Given the description of an element on the screen output the (x, y) to click on. 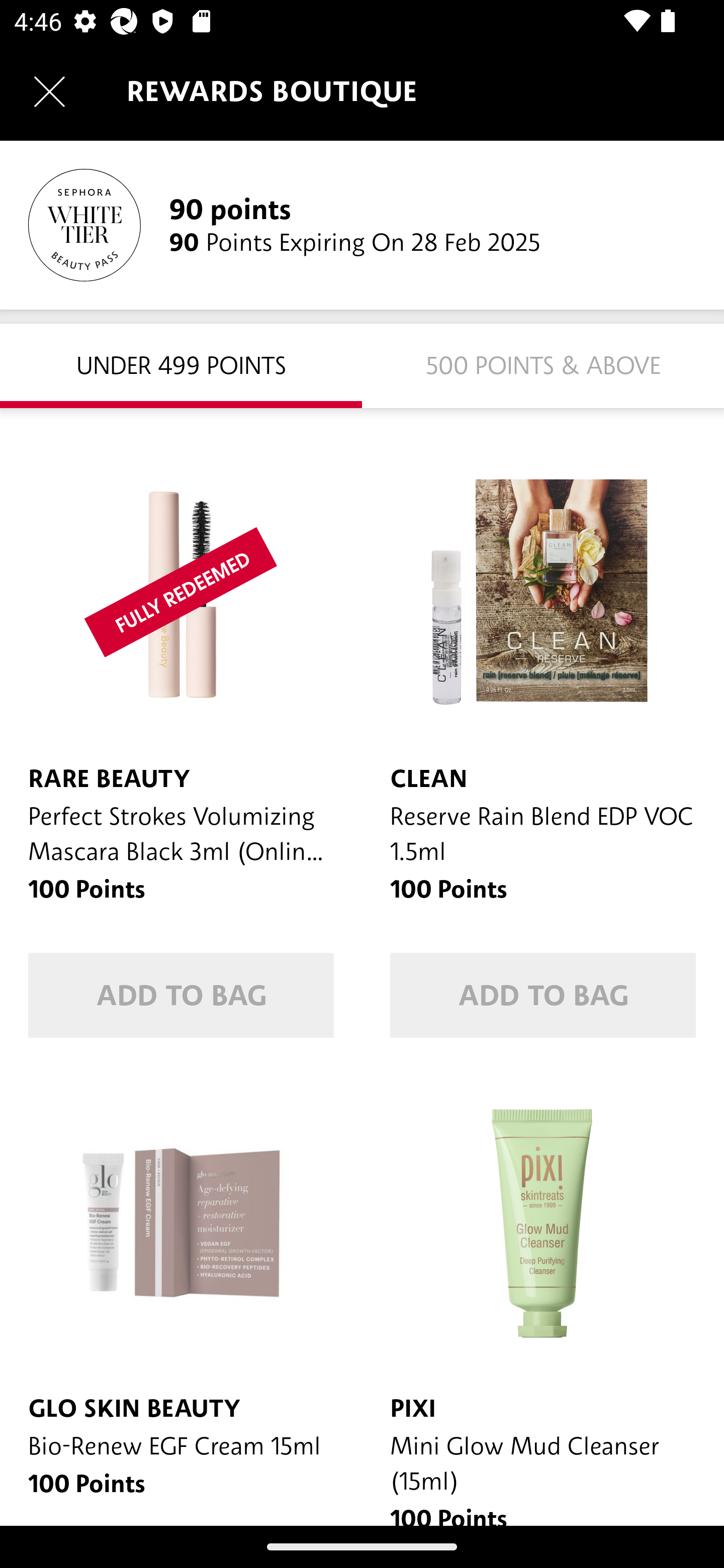
Navigate up (49, 91)
500 Points & Above 500 POINTS & ABOVE (543, 365)
ADD TO BAG (180, 995)
ADD TO BAG (542, 995)
PIXI Mini Glow Mud Cleanser (15ml) 100 Points (543, 1295)
